Given the description of an element on the screen output the (x, y) to click on. 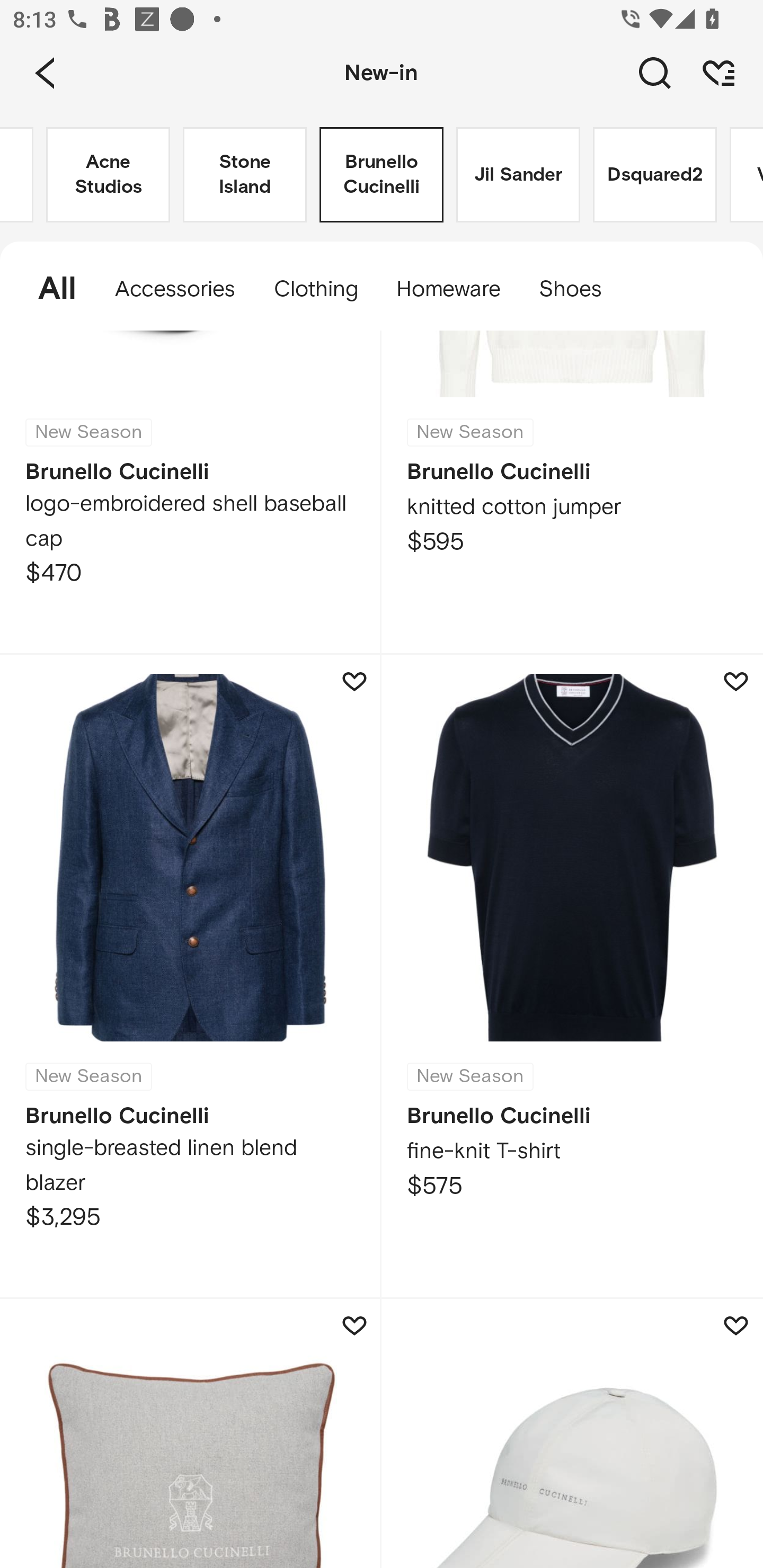
Acne Studios (107, 174)
Stone Island (244, 174)
Brunello Cucinelli (381, 174)
Jil Sander (517, 174)
Dsquared2 (654, 174)
